Given the description of an element on the screen output the (x, y) to click on. 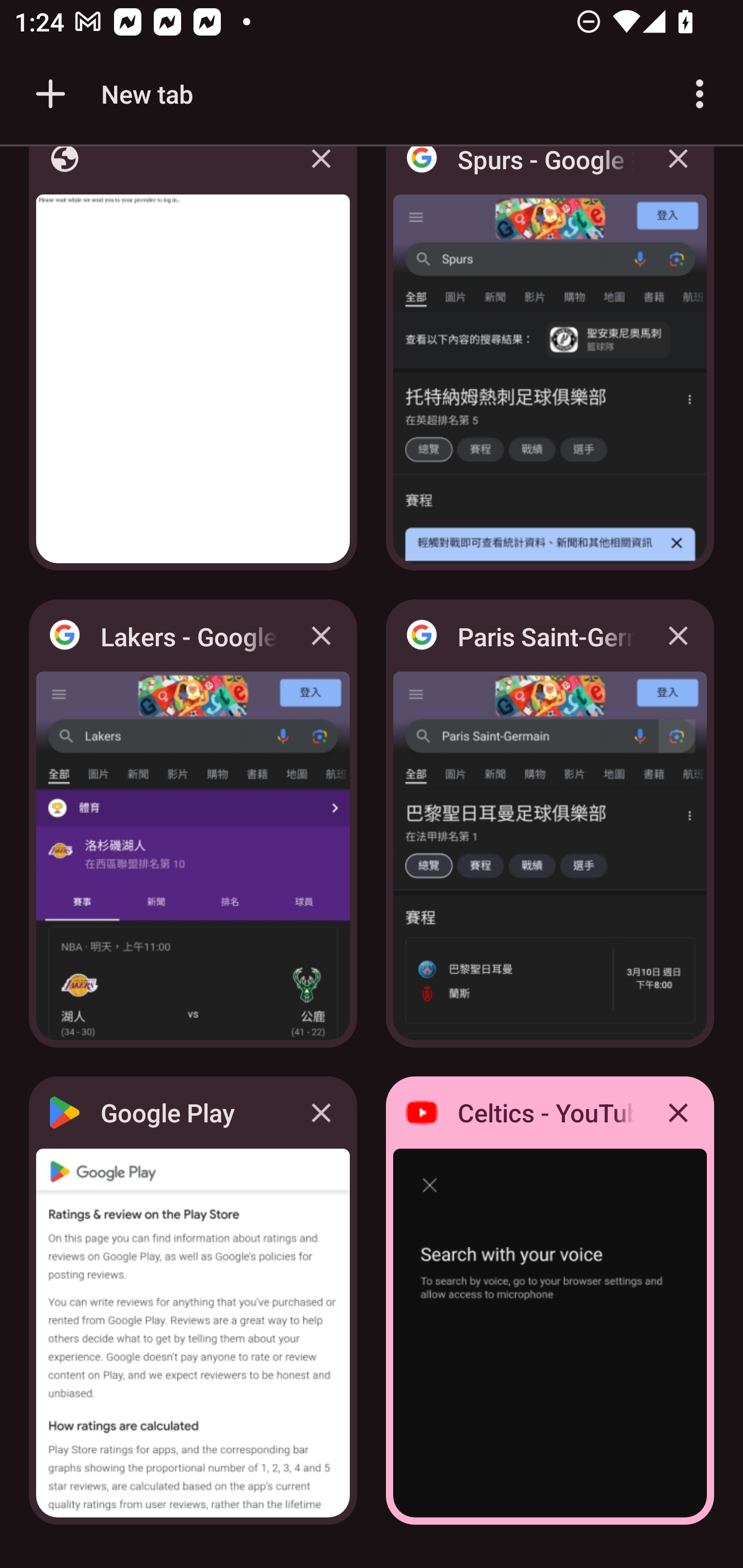
New tab (111, 93)
Customize and control Google Chrome (699, 93)
, tab Close  tab (192, 364)
Close  tab (320, 173)
Close Spurs - Google 搜尋 tab (677, 173)
Close Lakers - Google 搜尋 tab (320, 635)
Close Paris Saint-Germain - Google 搜尋 tab (677, 635)
Google Play Google Play, tab Close Google Play tab (192, 1300)
Close Google Play tab (320, 1112)
Close Celtics - YouTube tab (677, 1112)
